Given the description of an element on the screen output the (x, y) to click on. 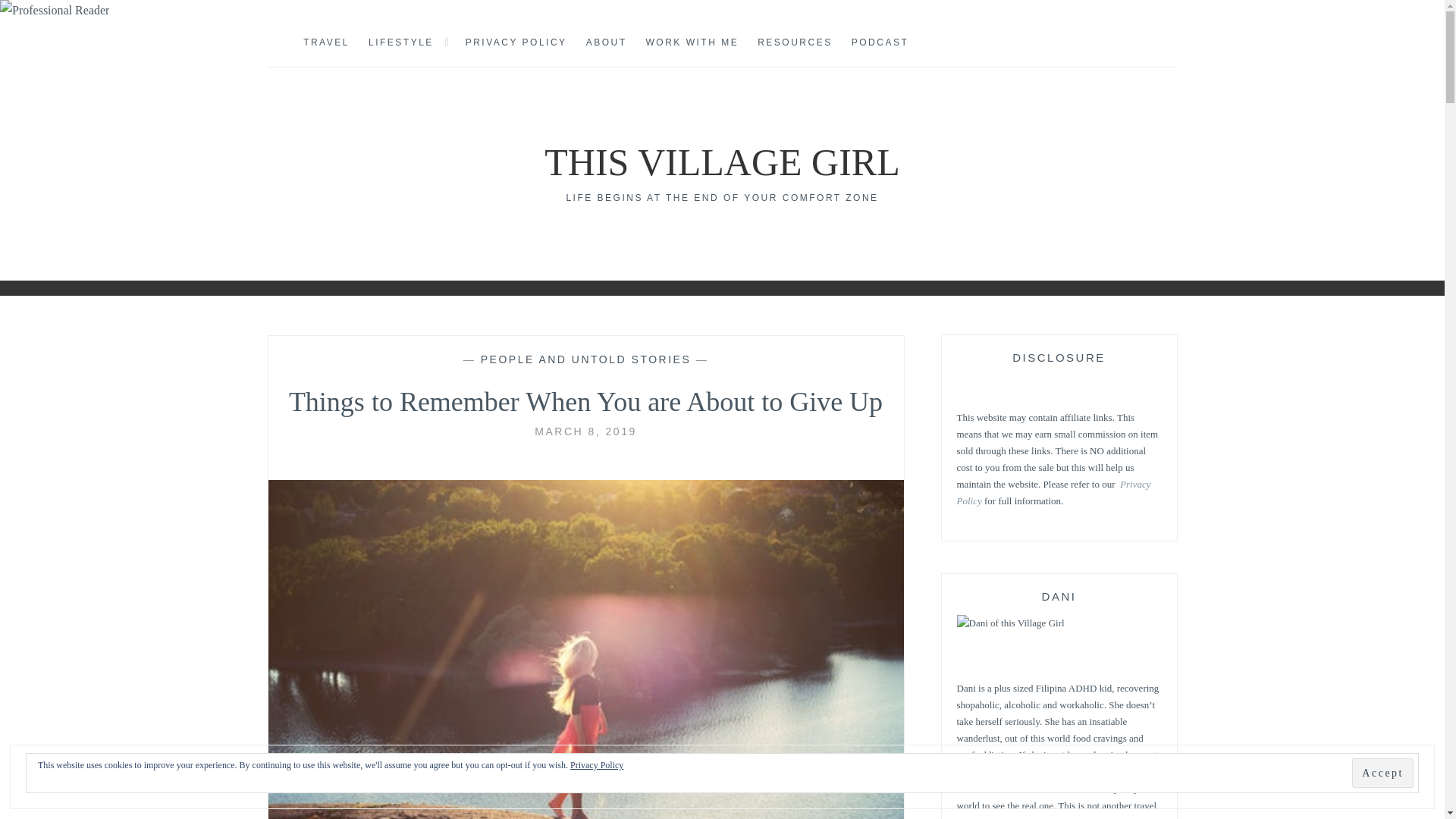
Professional Reader (54, 10)
PODCAST (879, 43)
WORK WITH ME (692, 43)
Accept (1382, 772)
TRAVEL (325, 43)
LIFESTYLE (400, 43)
PRIVACY POLICY (516, 43)
PEOPLE AND UNTOLD STORIES (585, 358)
RESOURCES (794, 43)
THIS VILLAGE GIRL (721, 161)
